Given the description of an element on the screen output the (x, y) to click on. 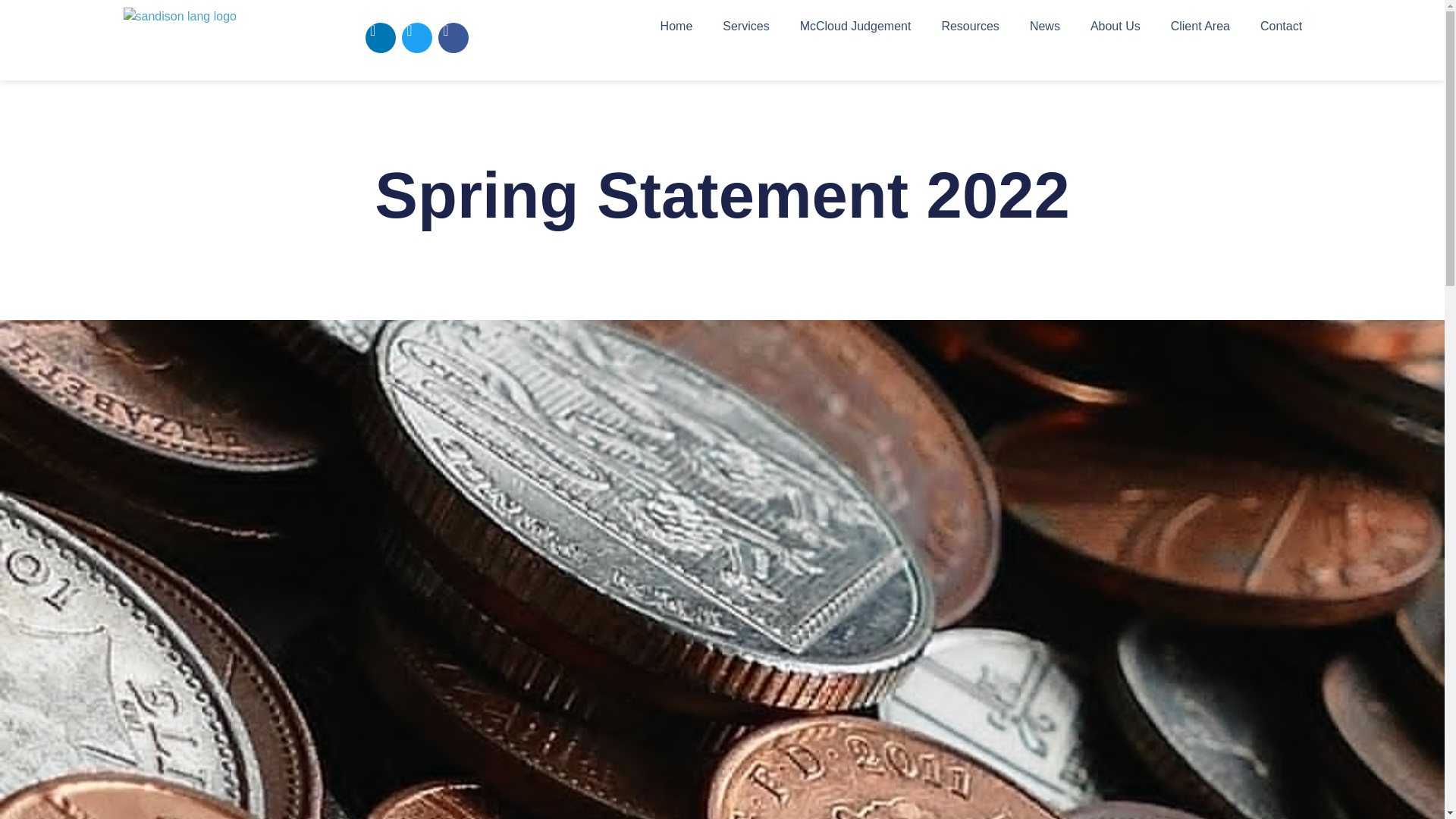
Resources (969, 26)
Home (676, 26)
Client Area (1200, 26)
Contact (1280, 26)
About Us (1115, 26)
News (1044, 26)
McCloud Judgement (855, 26)
Services (745, 26)
